Given the description of an element on the screen output the (x, y) to click on. 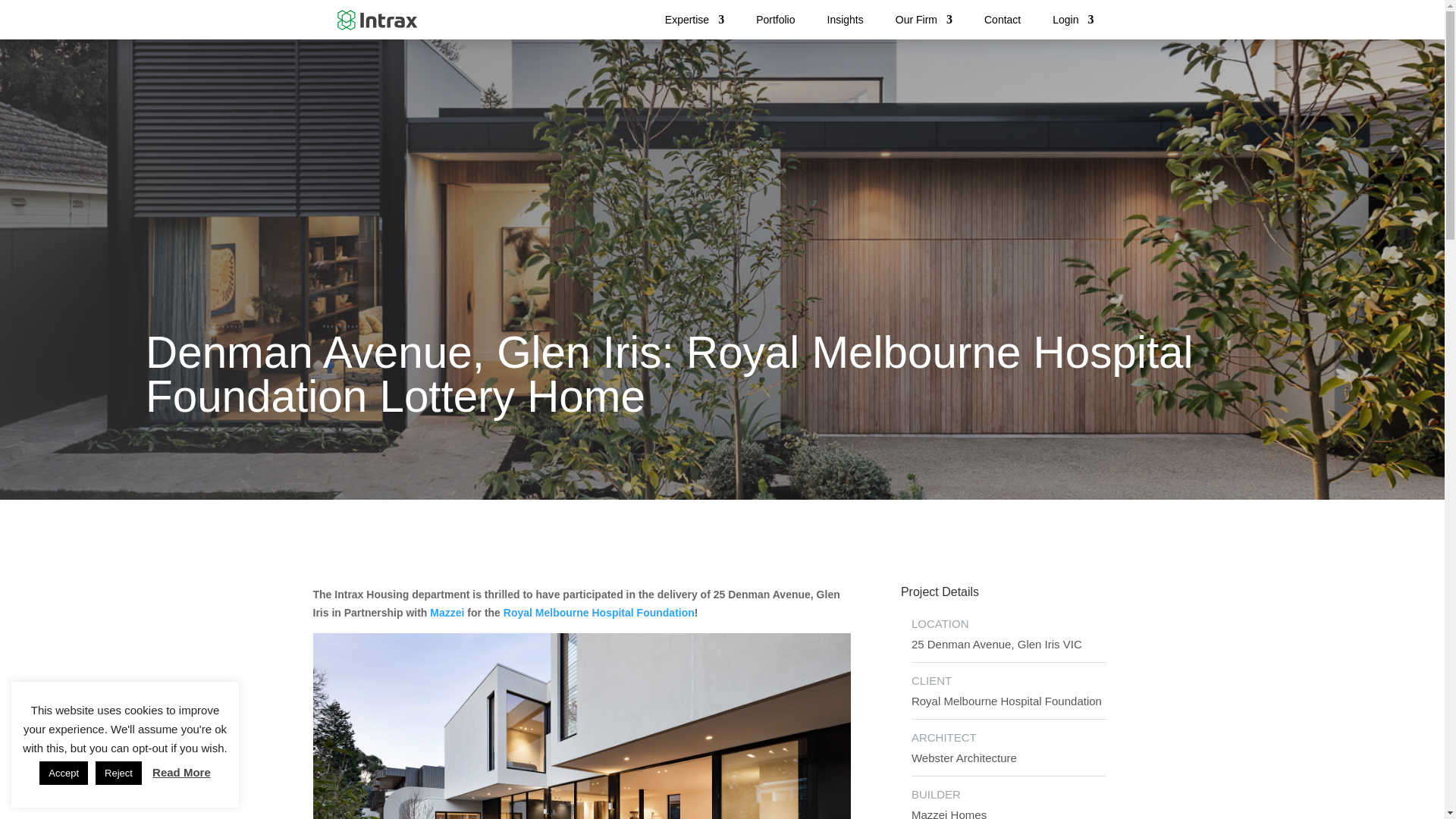
Expertise (694, 19)
